Given the description of an element on the screen output the (x, y) to click on. 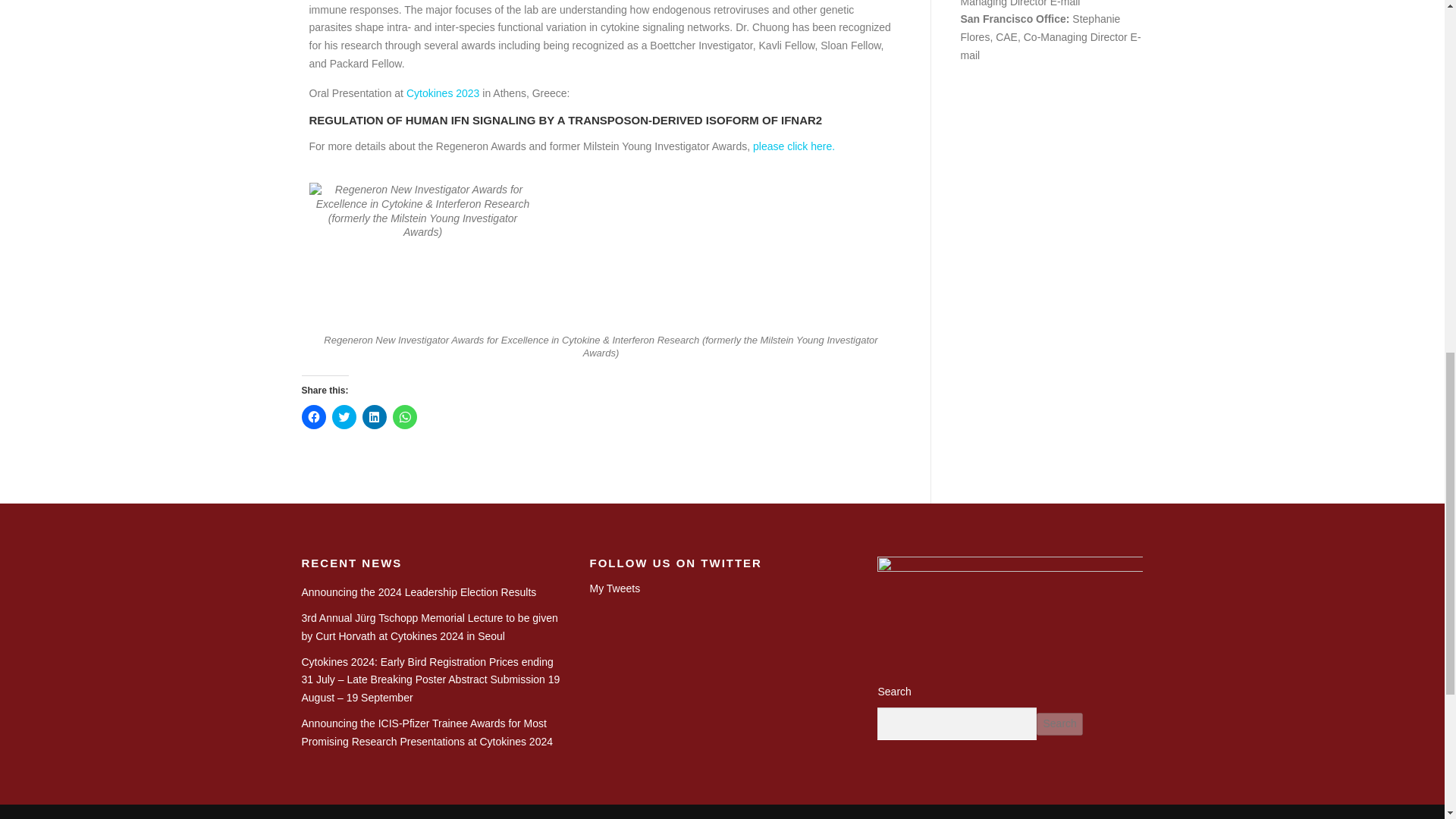
Click to share on LinkedIn (374, 416)
Click to share on WhatsApp (404, 416)
Click to share on Twitter (343, 416)
Click to share on Facebook (313, 416)
